Given the description of an element on the screen output the (x, y) to click on. 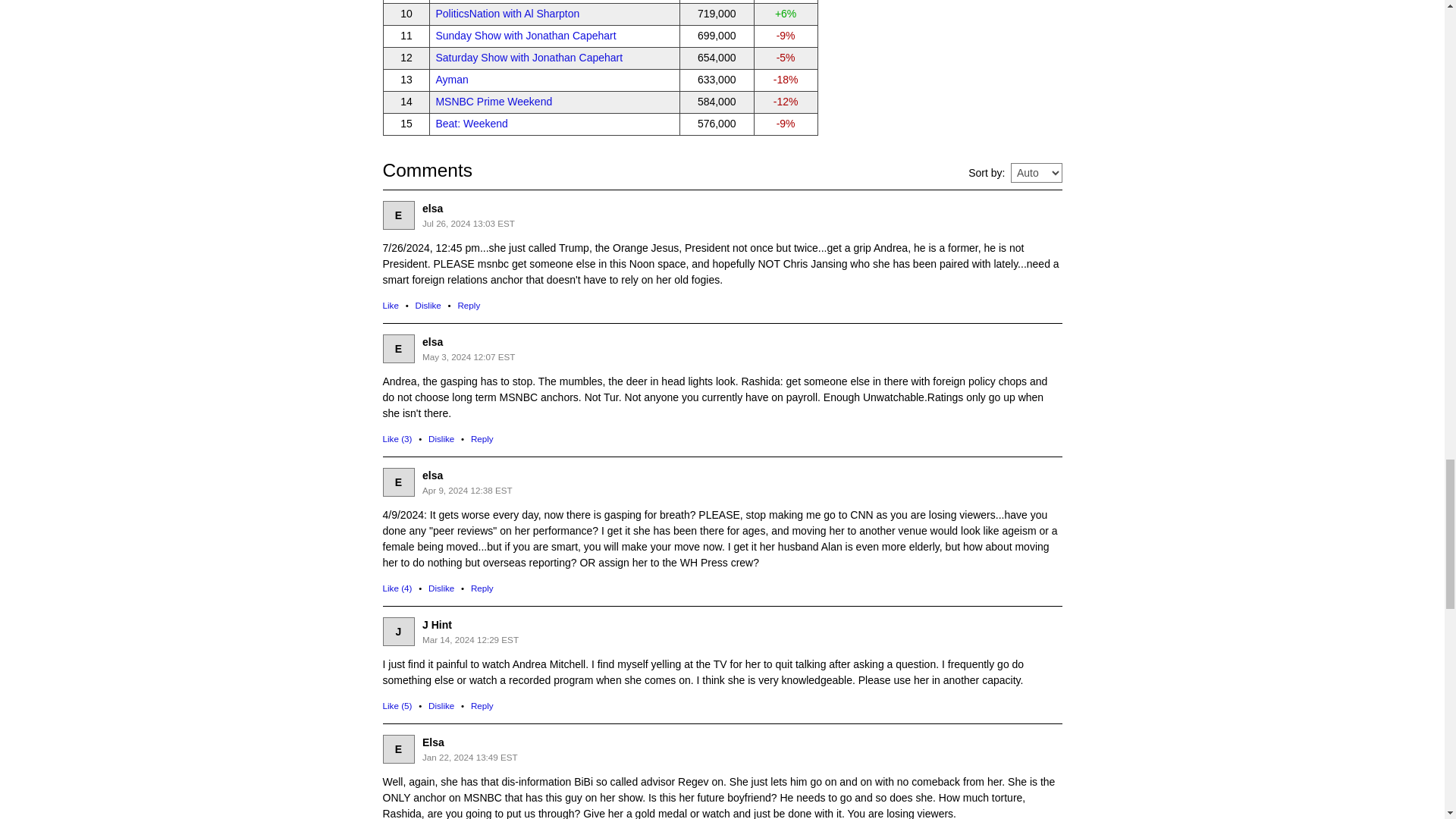
Ayman (451, 79)
Beat: Weekend (470, 123)
Like (396, 438)
Reply (468, 305)
Dislike (441, 438)
MSNBC Prime Weekend (493, 101)
Saturday Show with Jonathan Capehart (529, 57)
Dislike (441, 587)
Like (389, 305)
Dislike (441, 705)
